Given the description of an element on the screen output the (x, y) to click on. 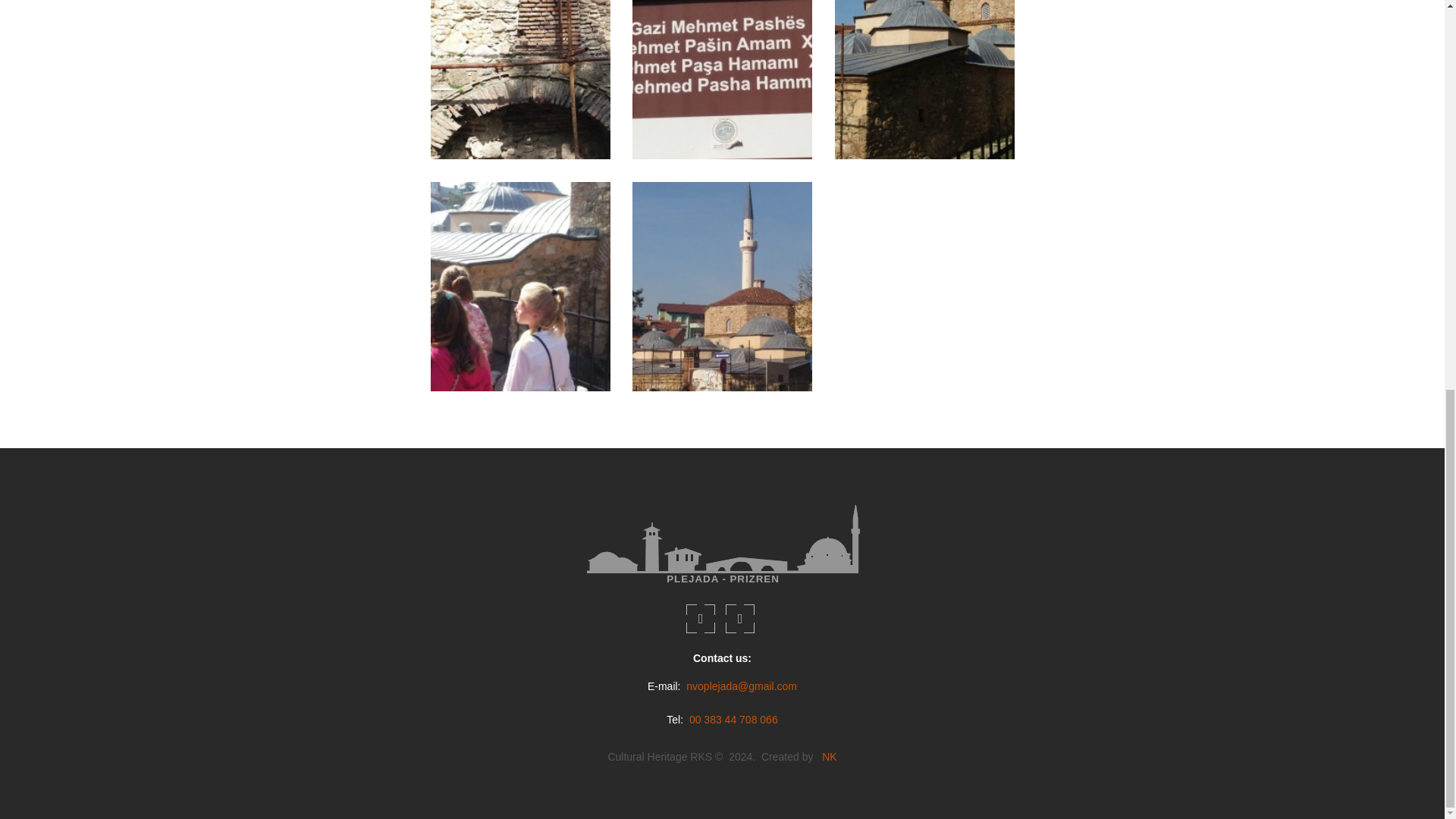
PLEJADA - PRIZREN (721, 544)
00 383 44 708 066 (731, 719)
NK (828, 756)
